Given the description of an element on the screen output the (x, y) to click on. 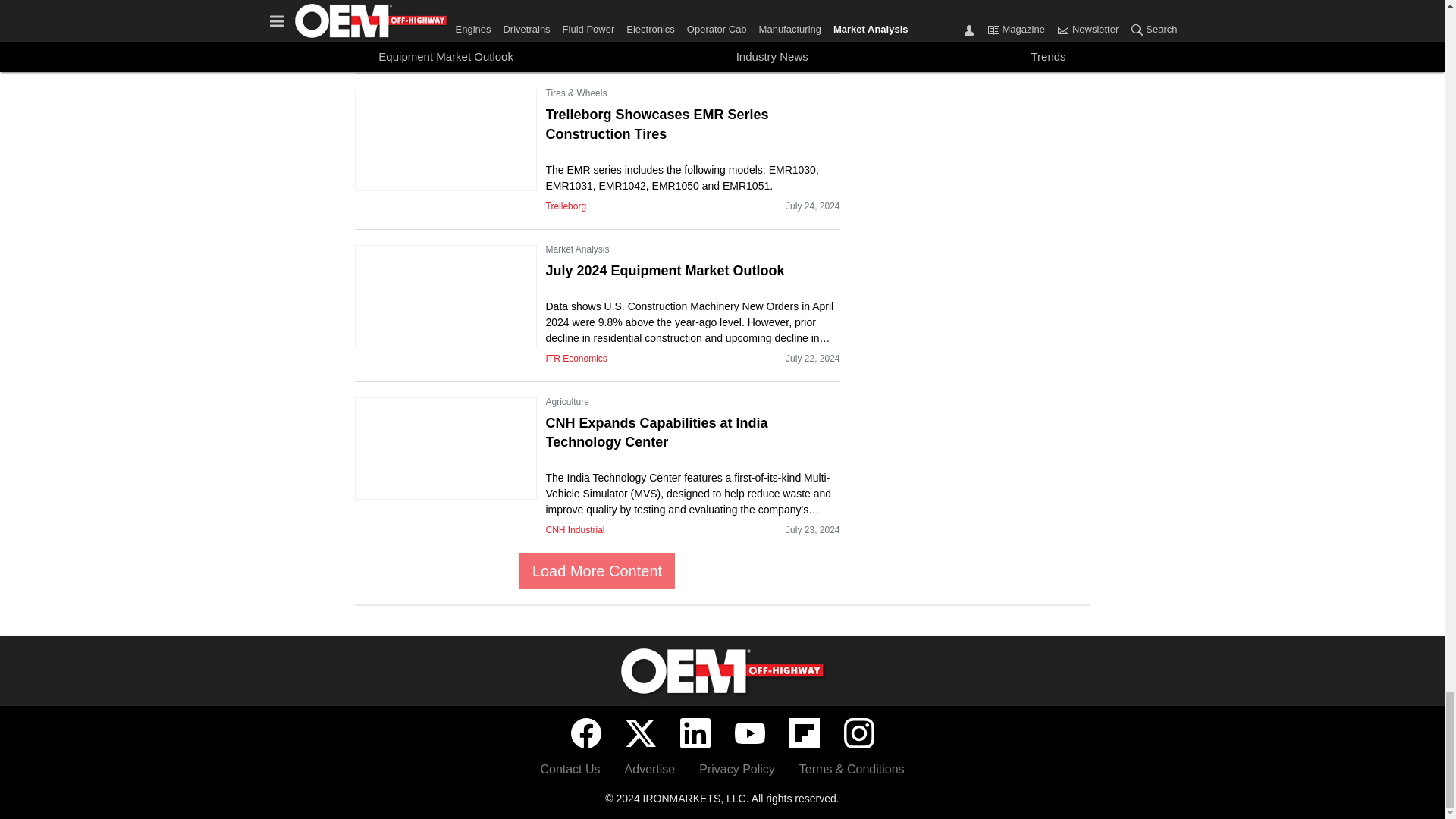
LinkedIn icon (694, 733)
Twitter X icon (639, 733)
Facebook icon (584, 733)
YouTube icon (748, 733)
Flipboard icon (803, 733)
